Given the description of an element on the screen output the (x, y) to click on. 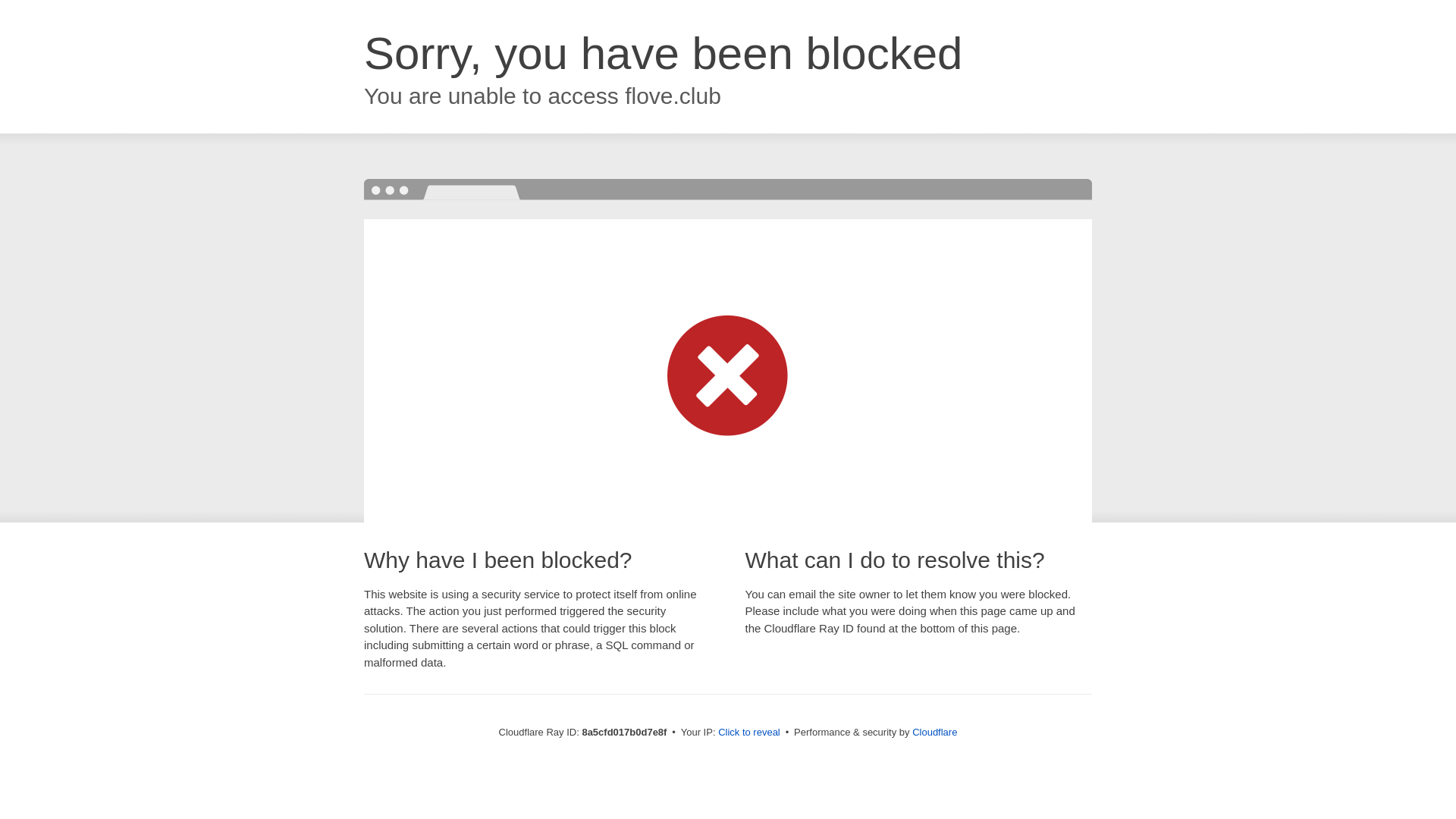
Click to reveal (748, 732)
Cloudflare (934, 731)
